Given the description of an element on the screen output the (x, y) to click on. 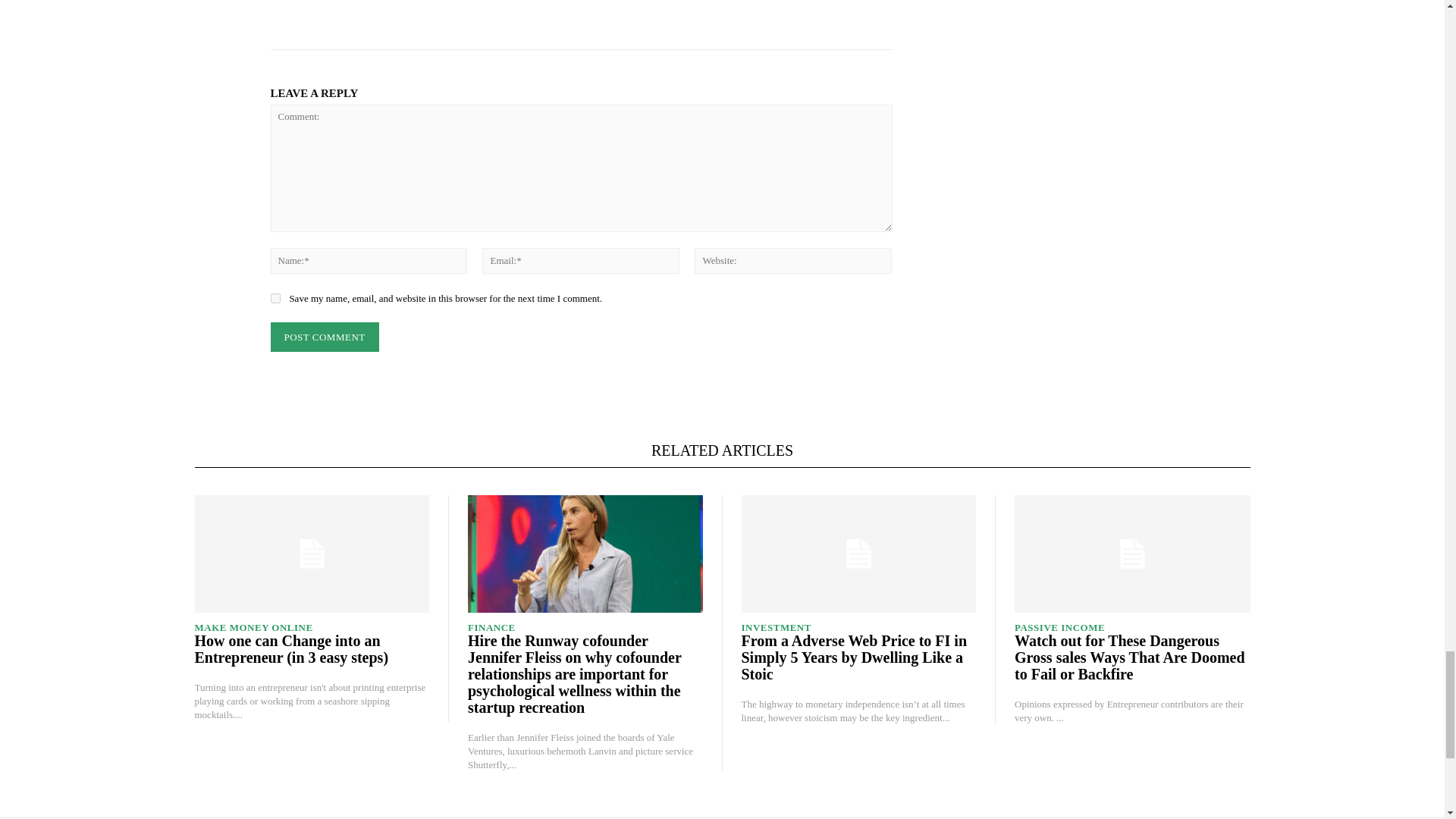
admin (459, 17)
Post Comment (323, 337)
yes (274, 298)
